Given the description of an element on the screen output the (x, y) to click on. 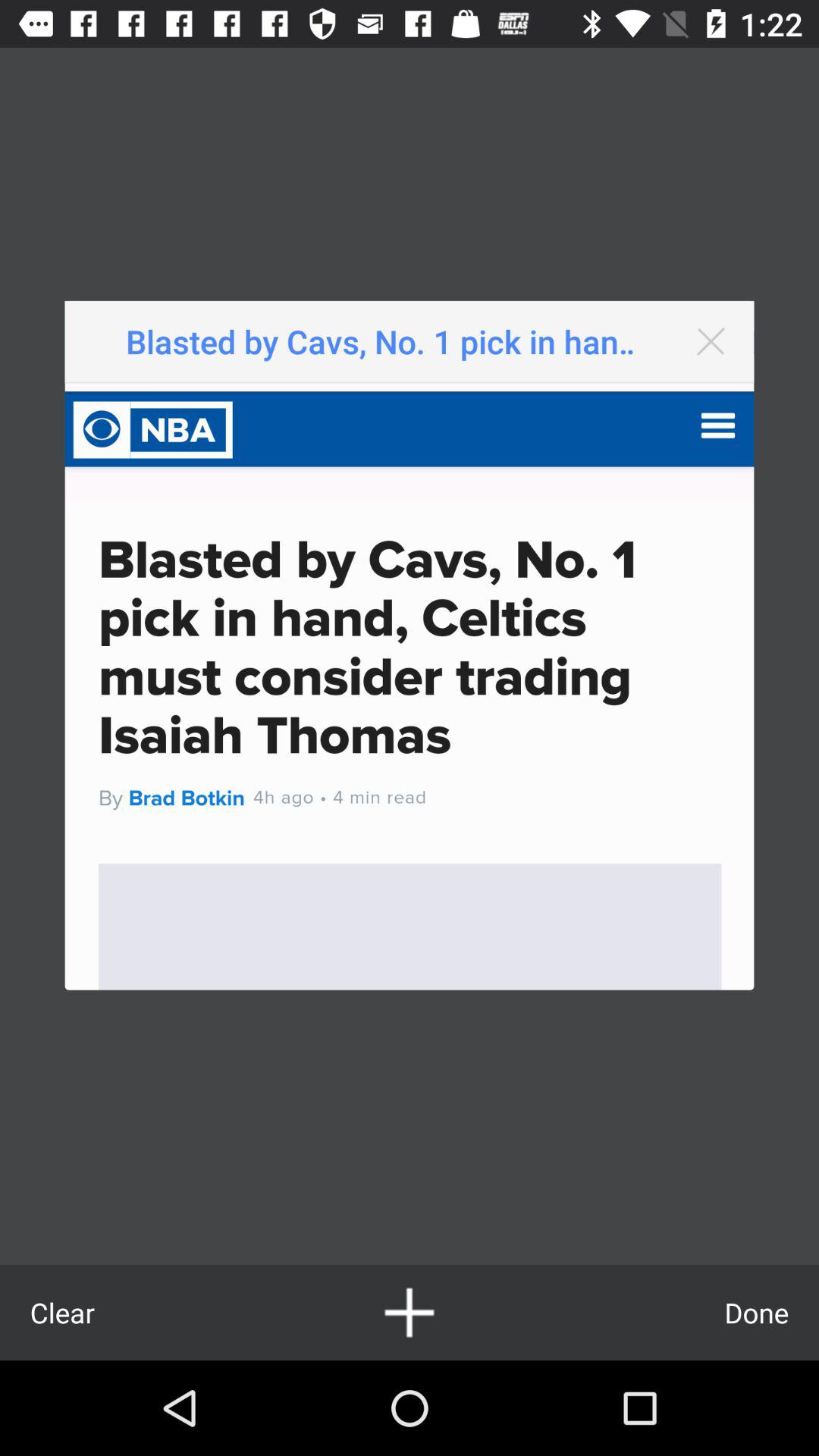
select the app at the bottom left corner (62, 1312)
